Given the description of an element on the screen output the (x, y) to click on. 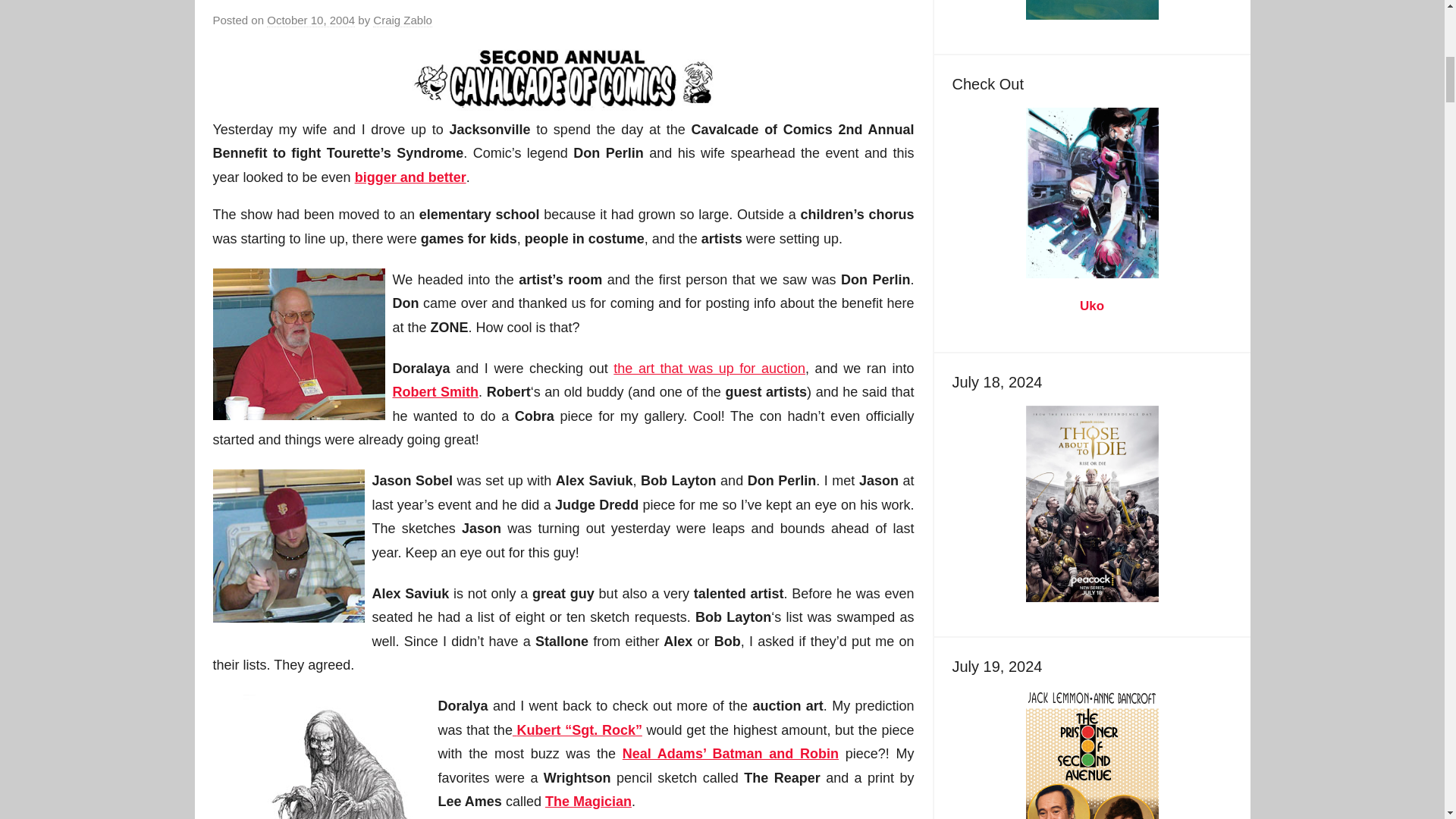
October 10, 2004 (310, 20)
bigger and better (410, 177)
The Magician (587, 801)
Robert Smith (436, 391)
View all posts by Craig Zablo (402, 20)
Craig Zablo (402, 20)
the art that was up for auction (708, 368)
